Given the description of an element on the screen output the (x, y) to click on. 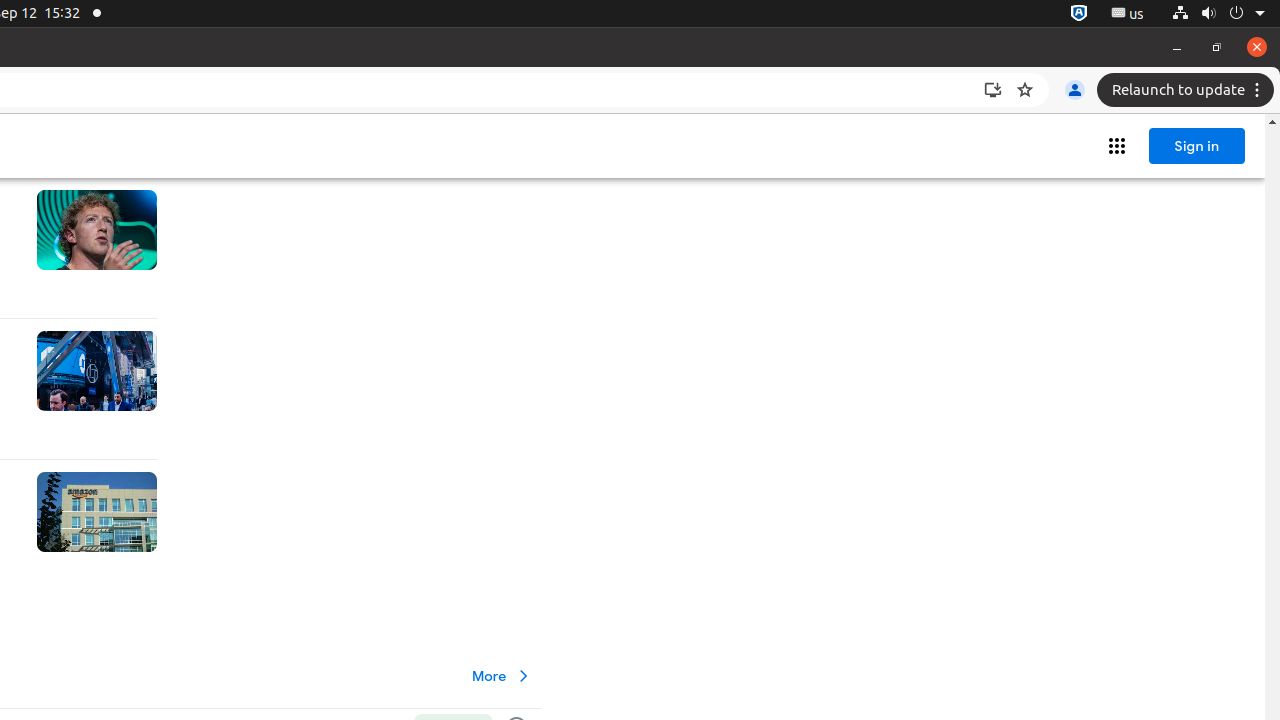
System Element type: menu (1218, 13)
